Given the description of an element on the screen output the (x, y) to click on. 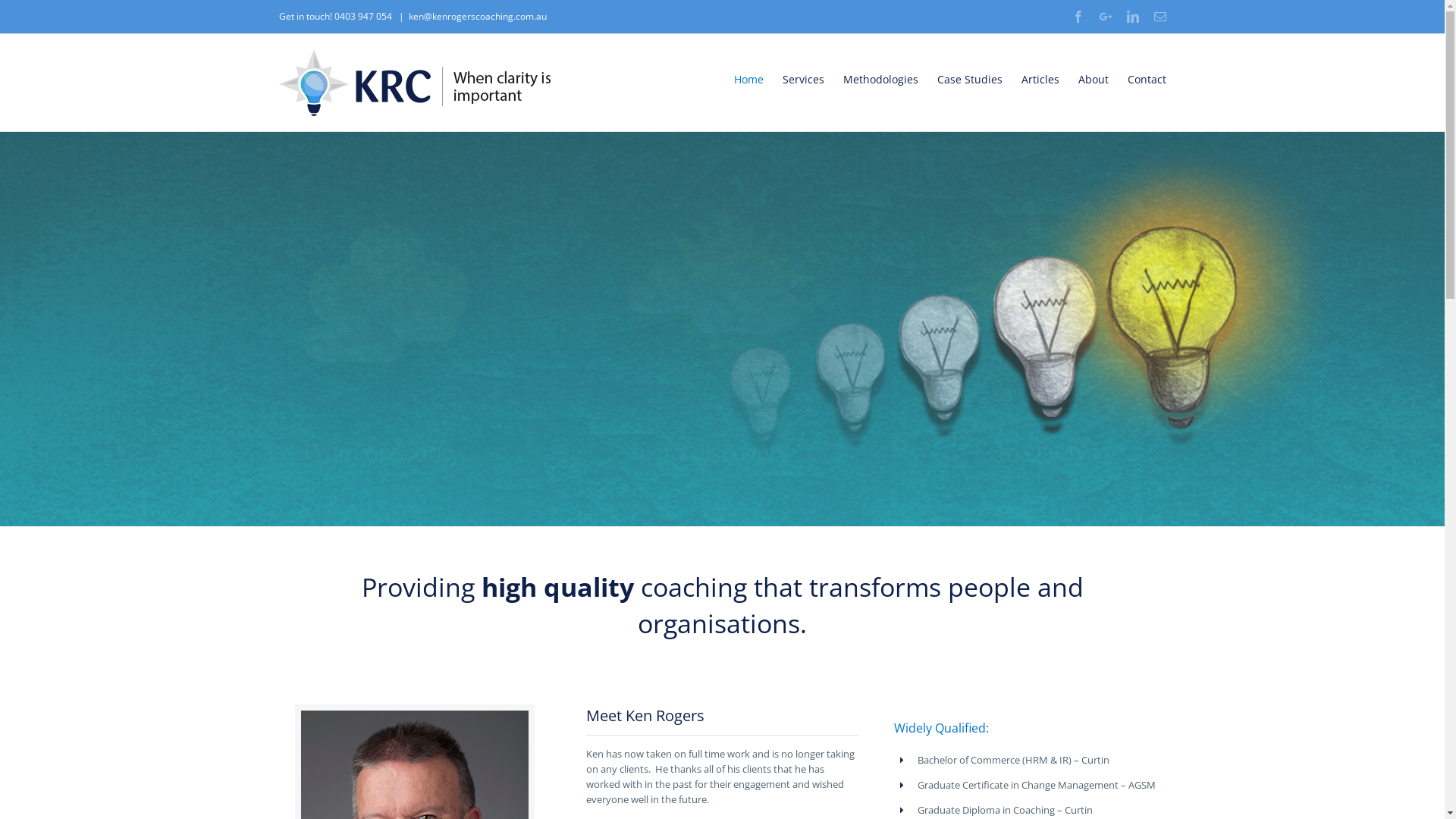
About Element type: text (1093, 79)
Home Element type: text (748, 79)
Methodologies Element type: text (880, 79)
Case Studies Element type: text (969, 79)
ken@kenrogerscoaching.com.au Element type: text (476, 15)
Articles Element type: text (1039, 79)
Services Element type: text (803, 79)
Contact Element type: text (1145, 79)
